Given the description of an element on the screen output the (x, y) to click on. 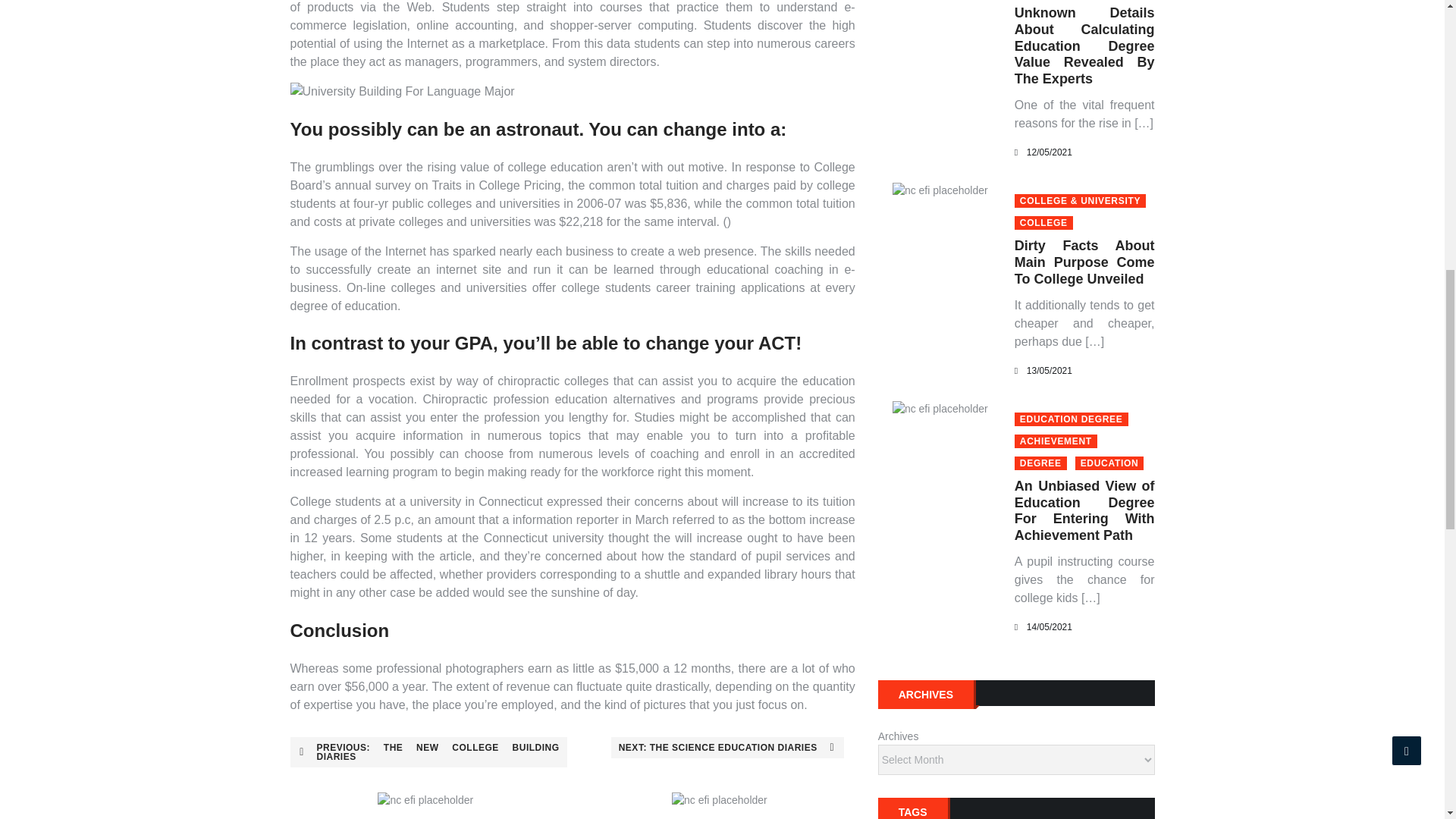
What's Really Happening With Love All Time In College 2 (571, 91)
The Note All Subject Matter Today Diaries 5 (719, 800)
NEXT: THE SCIENCE EDUCATION DIARIES (727, 747)
PREVIOUS: THE NEW COLLEGE BUILDING DIARIES (427, 752)
Dirty Facts About Main Purpose Come To College Unveiled 16 (940, 190)
